Given the description of an element on the screen output the (x, y) to click on. 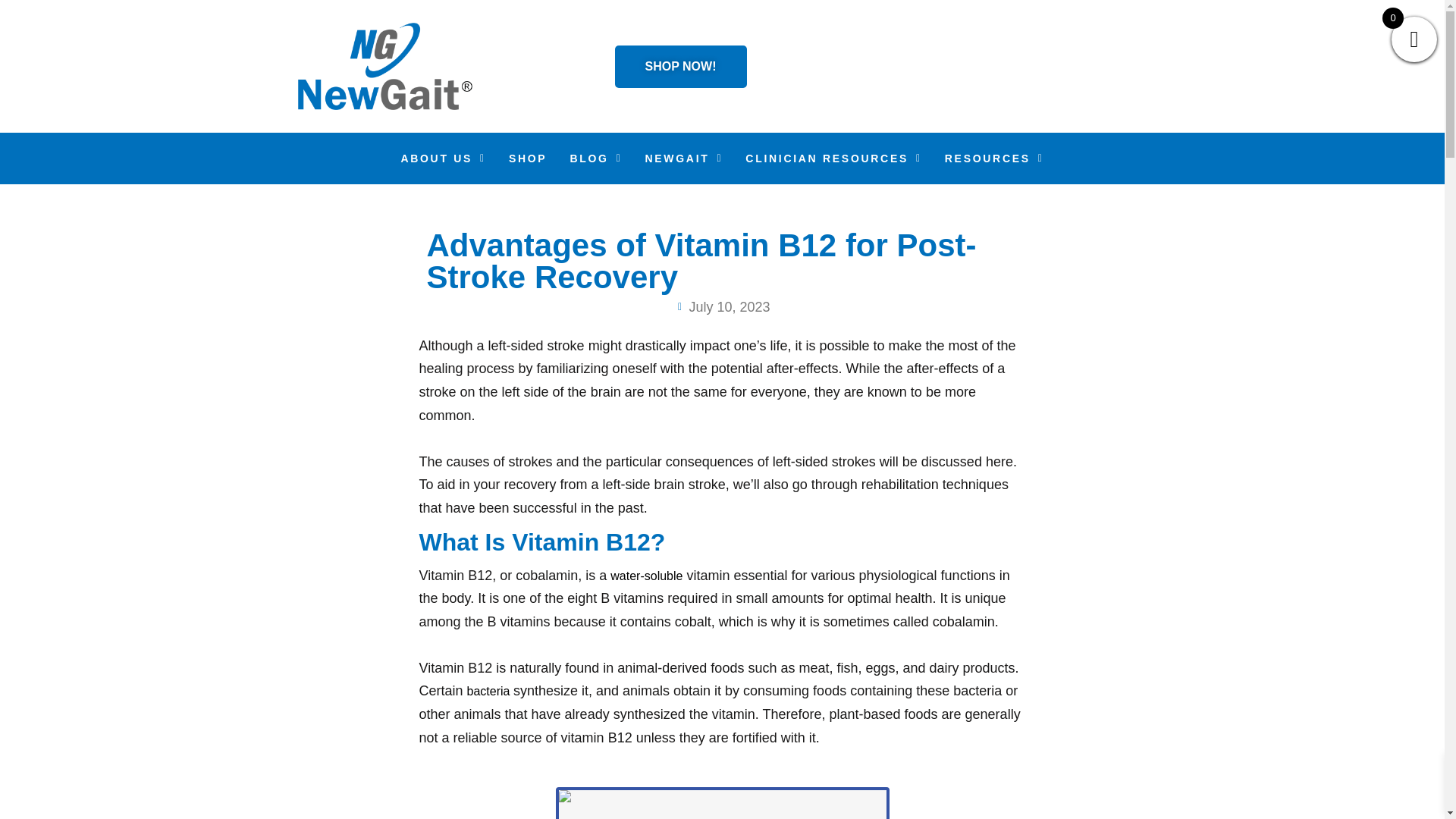
ABOUT US (442, 158)
RESOURCES (994, 158)
BLOG (595, 158)
SHOP (527, 158)
bacteria (490, 690)
water-soluble (646, 575)
SHOP NOW! (680, 66)
CLINICIAN RESOURCES (833, 158)
NEWGAIT (683, 158)
